Given the description of an element on the screen output the (x, y) to click on. 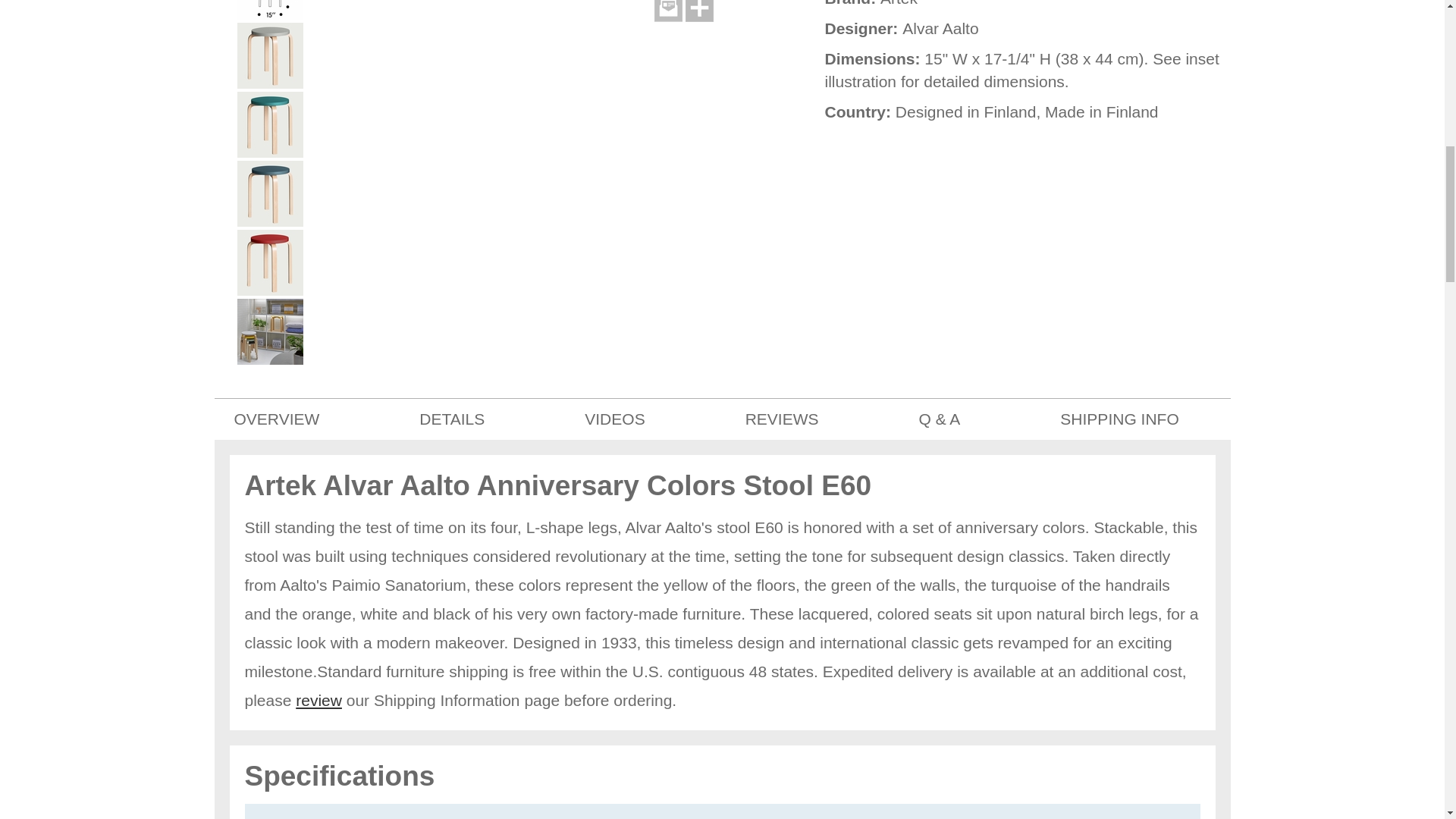
review (318, 700)
Alvar Aalto (940, 27)
